Given the description of an element on the screen output the (x, y) to click on. 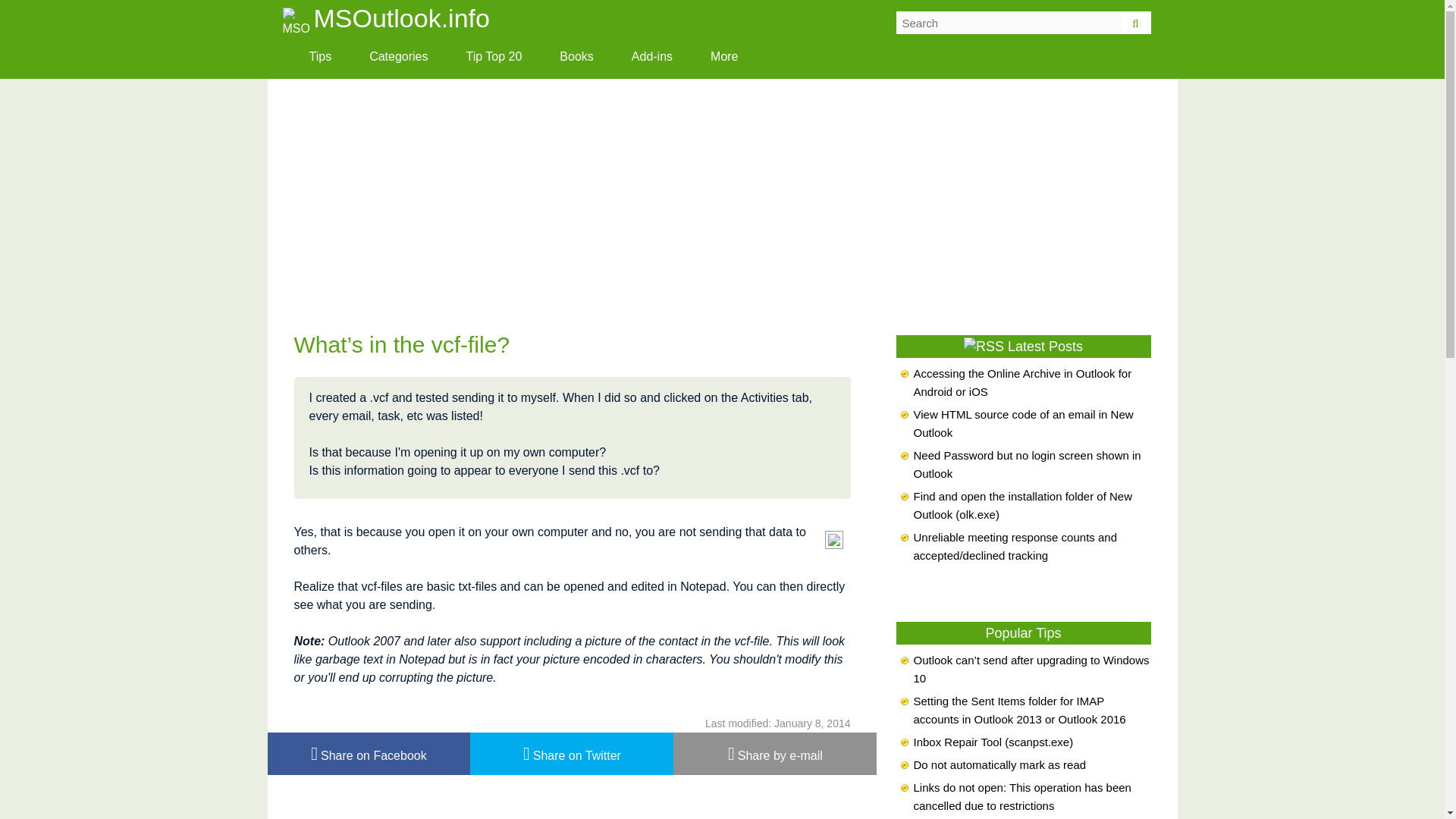
Add-ins (651, 56)
Books (575, 56)
Latest Posts (1045, 346)
Categories (398, 56)
View HTML source code of an email in New Outlook (1022, 422)
Accessing the Online Archive in Outlook for Android or iOS (1021, 382)
Share on Facebook (368, 753)
Share by e-mail (774, 753)
MSOutlook.info (295, 21)
Tip Top 20 (493, 56)
